Given the description of an element on the screen output the (x, y) to click on. 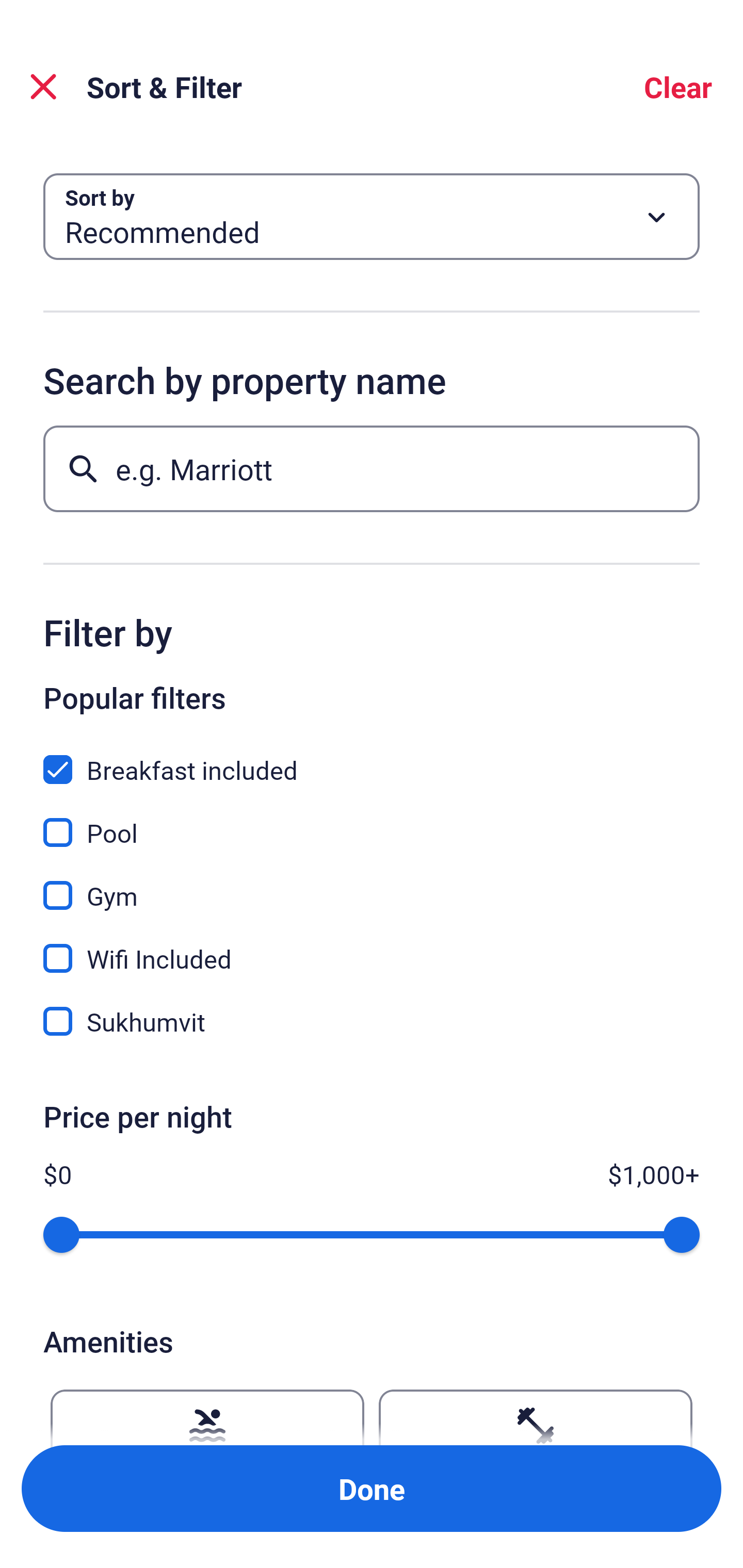
Close Sort and Filter (43, 86)
Clear (677, 86)
Sort by Button Recommended (371, 217)
e.g. Marriott Button (371, 468)
Breakfast included, Breakfast included (371, 757)
Pool, Pool (371, 821)
Gym, Gym (371, 883)
Wifi Included, Wifi Included (371, 946)
Sukhumvit, Sukhumvit (371, 1021)
Apply and close Sort and Filter Done (371, 1488)
